Given the description of an element on the screen output the (x, y) to click on. 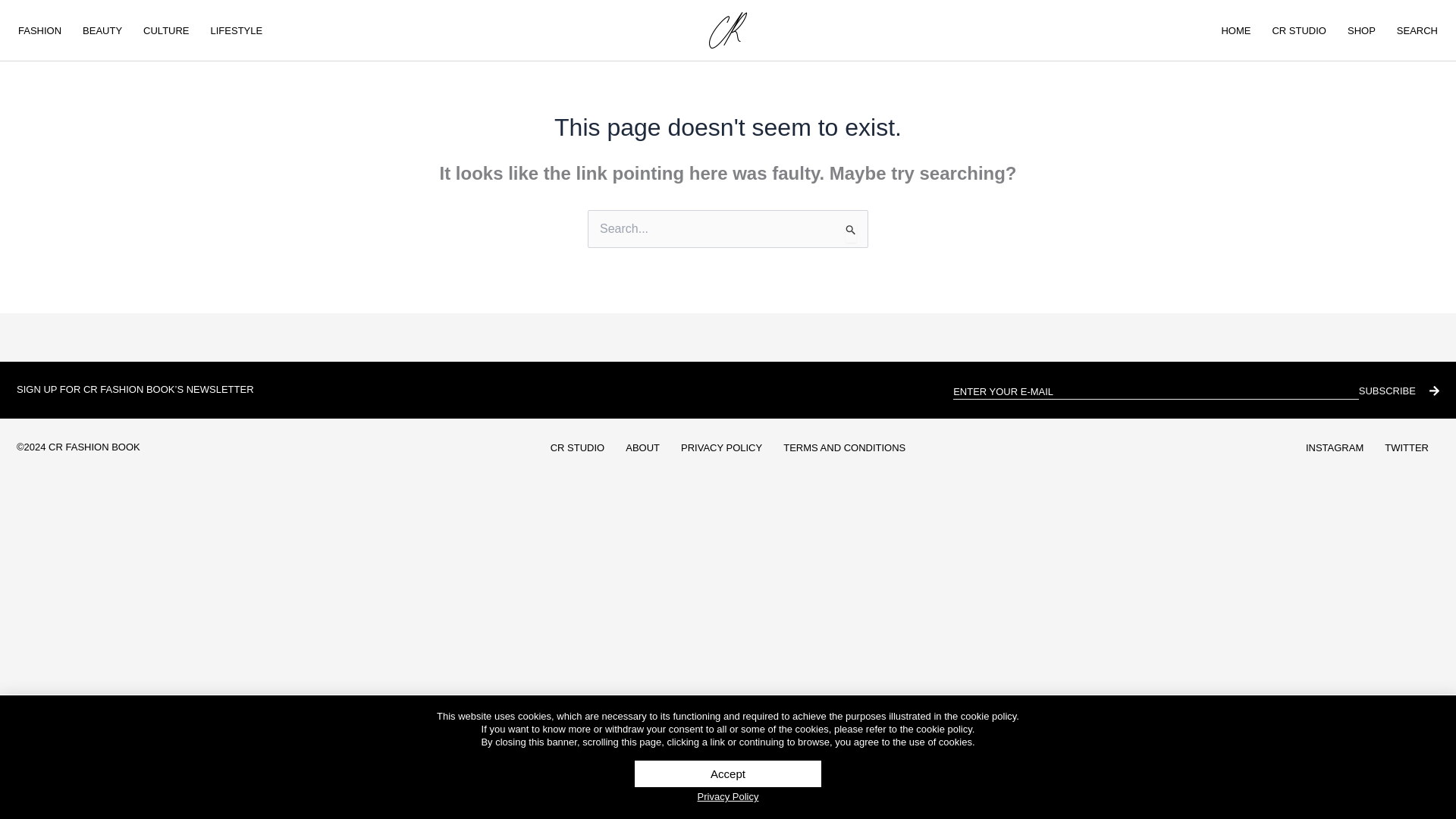
ABOUT (641, 447)
LIFESTYLE (236, 30)
Accept (727, 773)
PRIVACY POLICY (721, 447)
FASHION (39, 30)
CR STUDIO (1298, 30)
SHOP (1361, 30)
Privacy Policy (727, 796)
INSTAGRAM (1334, 447)
TWITTER (1406, 447)
